Given the description of an element on the screen output the (x, y) to click on. 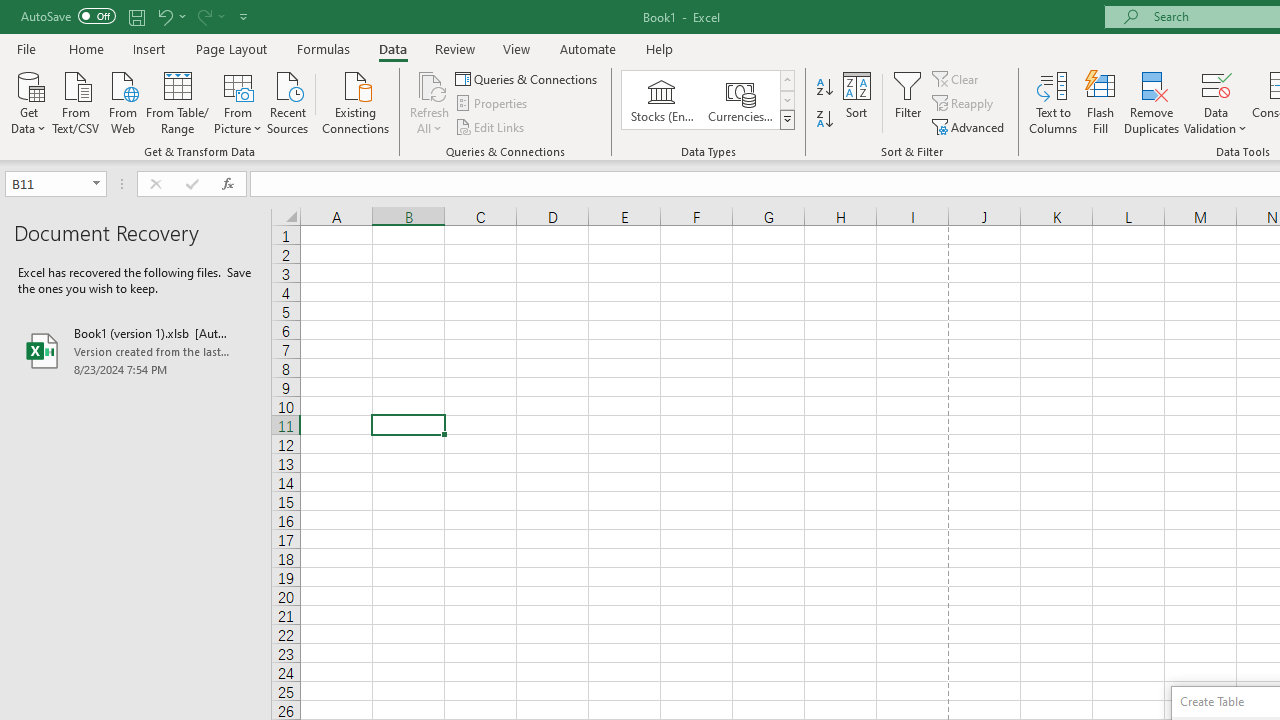
Stocks (English) (662, 100)
Existing Connections (355, 101)
From Table/Range (177, 101)
Recent Sources (287, 101)
Sort Z to A (824, 119)
Get Data (28, 101)
